Given the description of an element on the screen output the (x, y) to click on. 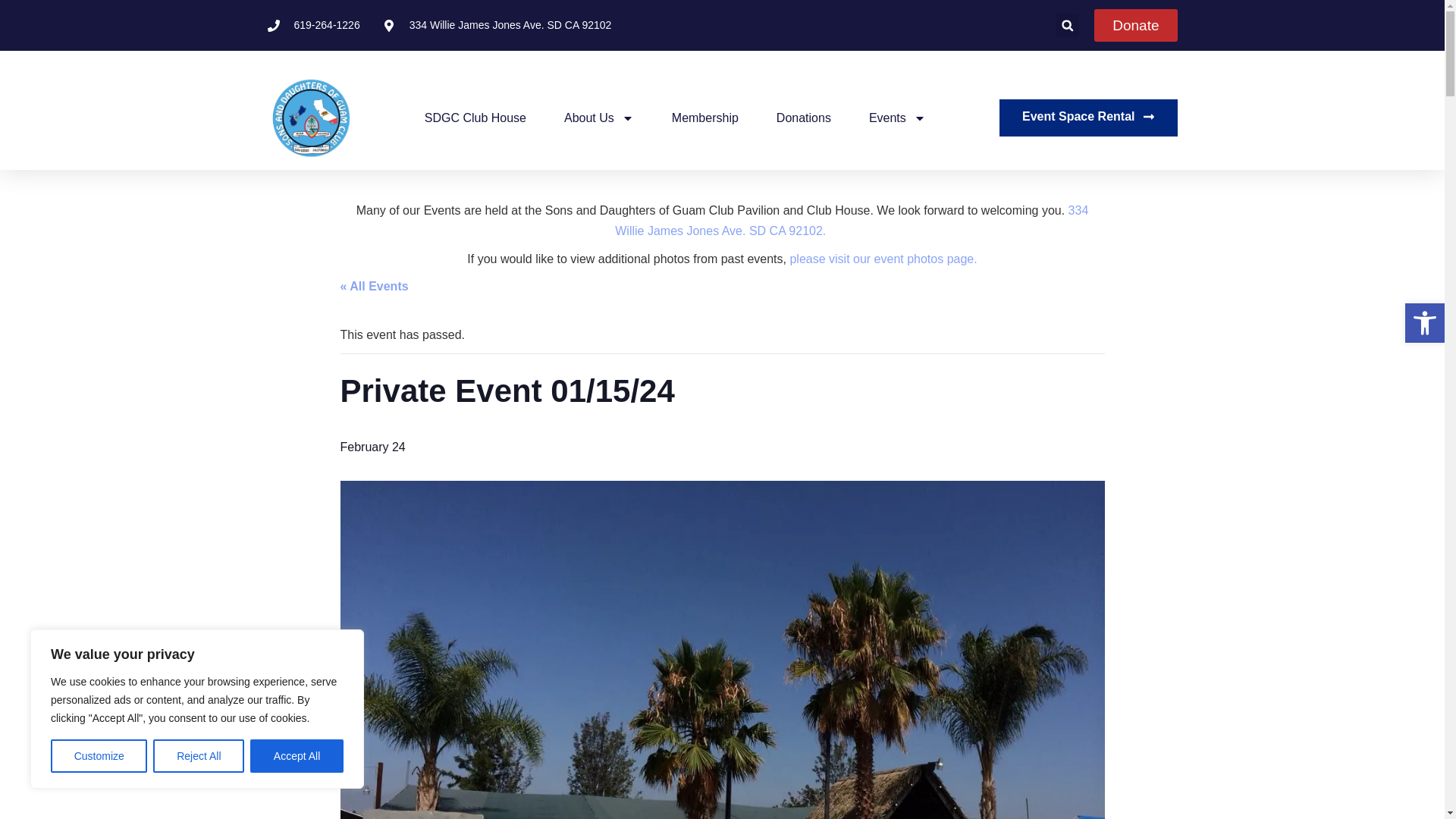
SDGC Club House (475, 117)
Reject All (198, 756)
Donations (803, 117)
334 Willie James Jones Ave. SD CA 92102 (496, 25)
Donate (1135, 25)
Accept All (296, 756)
Events (897, 117)
Membership (704, 117)
Customize (98, 756)
About Us (598, 117)
Accessibility Tools (1424, 322)
